Given the description of an element on the screen output the (x, y) to click on. 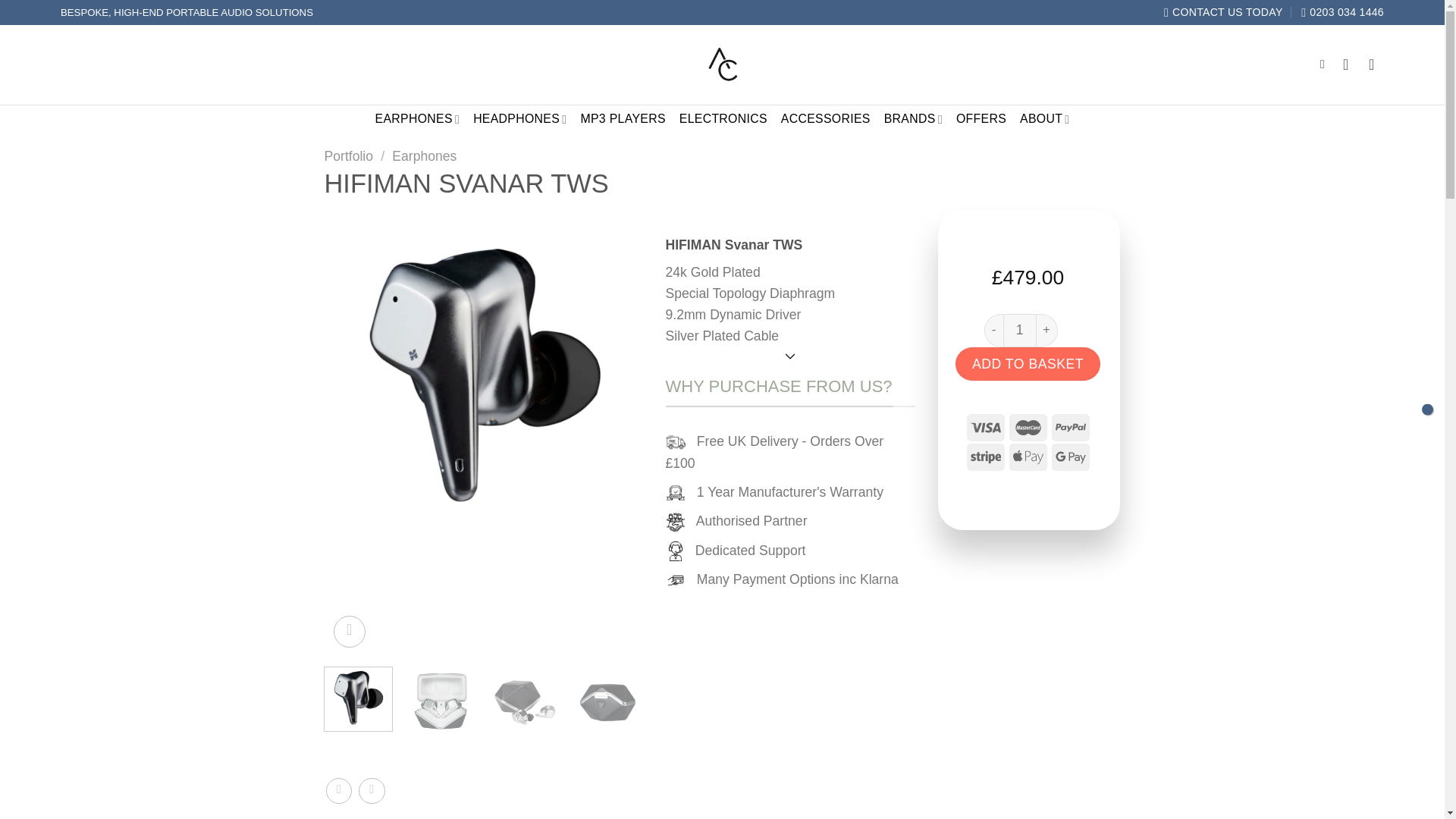
0203 034 1446 (1342, 12)
Svanar TWS 1 (440, 700)
EARPHONES (417, 119)
0203 034 1446 (1342, 12)
HiFiman Svanar TWS Earphones (483, 372)
1 (1019, 329)
CONTACT US TODAY (1222, 12)
Zoom (349, 631)
Svanar TWS 2 (524, 700)
